Given the description of an element on the screen output the (x, y) to click on. 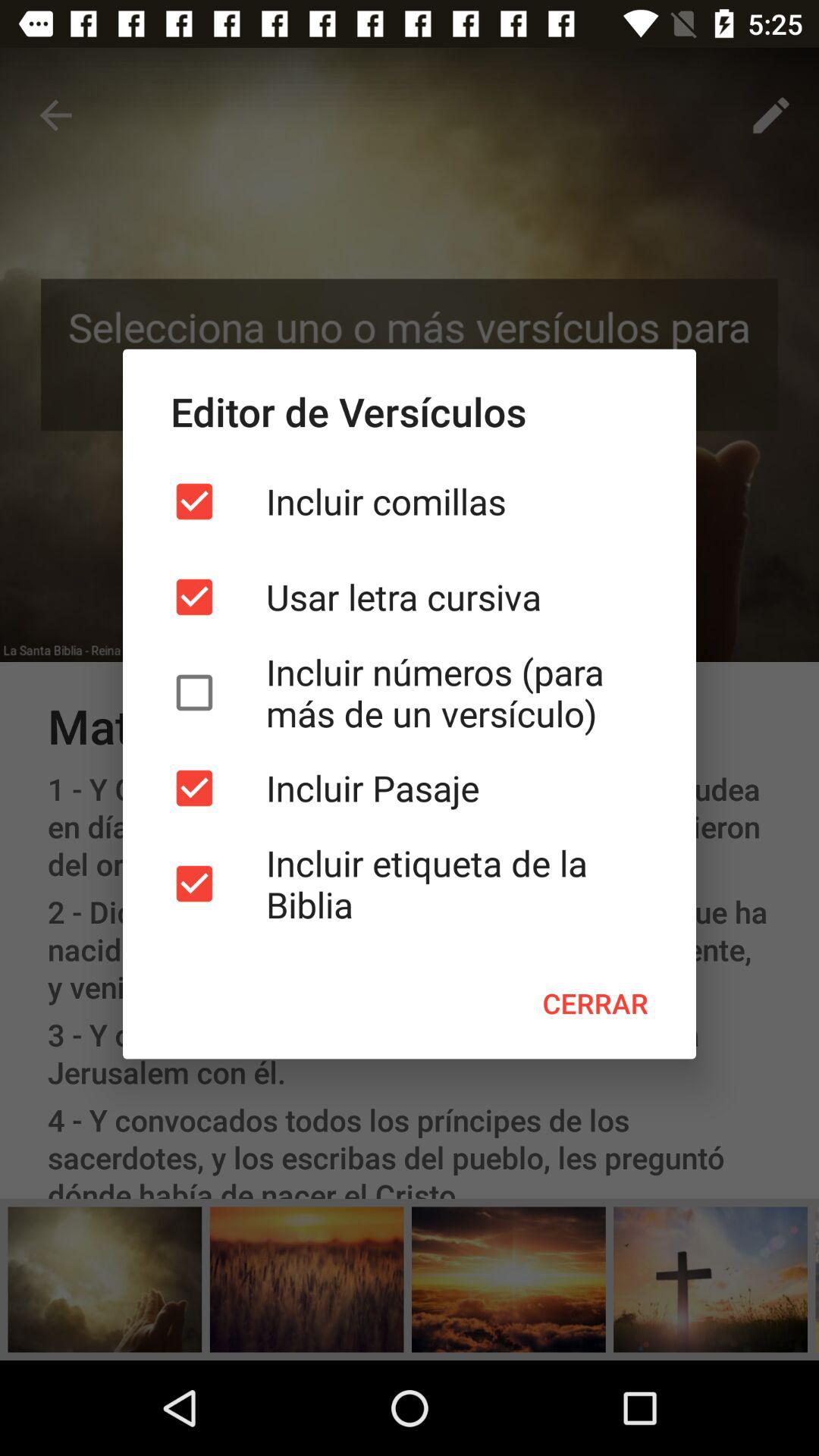
open the incluir comillas (409, 501)
